Given the description of an element on the screen output the (x, y) to click on. 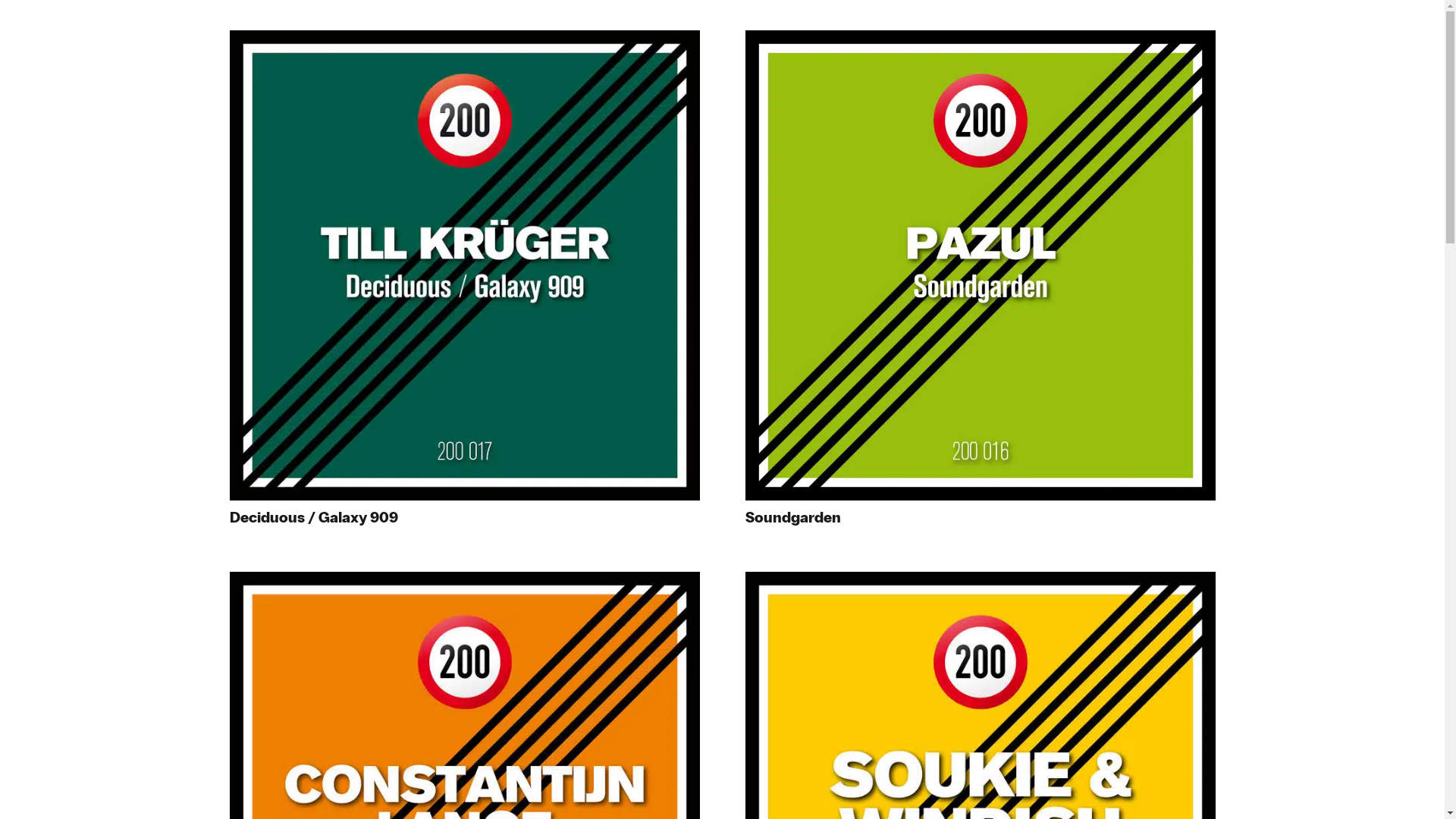
Soundgarden Element type: text (792, 517)
Deciduous / Galaxy 909 Element type: text (313, 517)
